Given the description of an element on the screen output the (x, y) to click on. 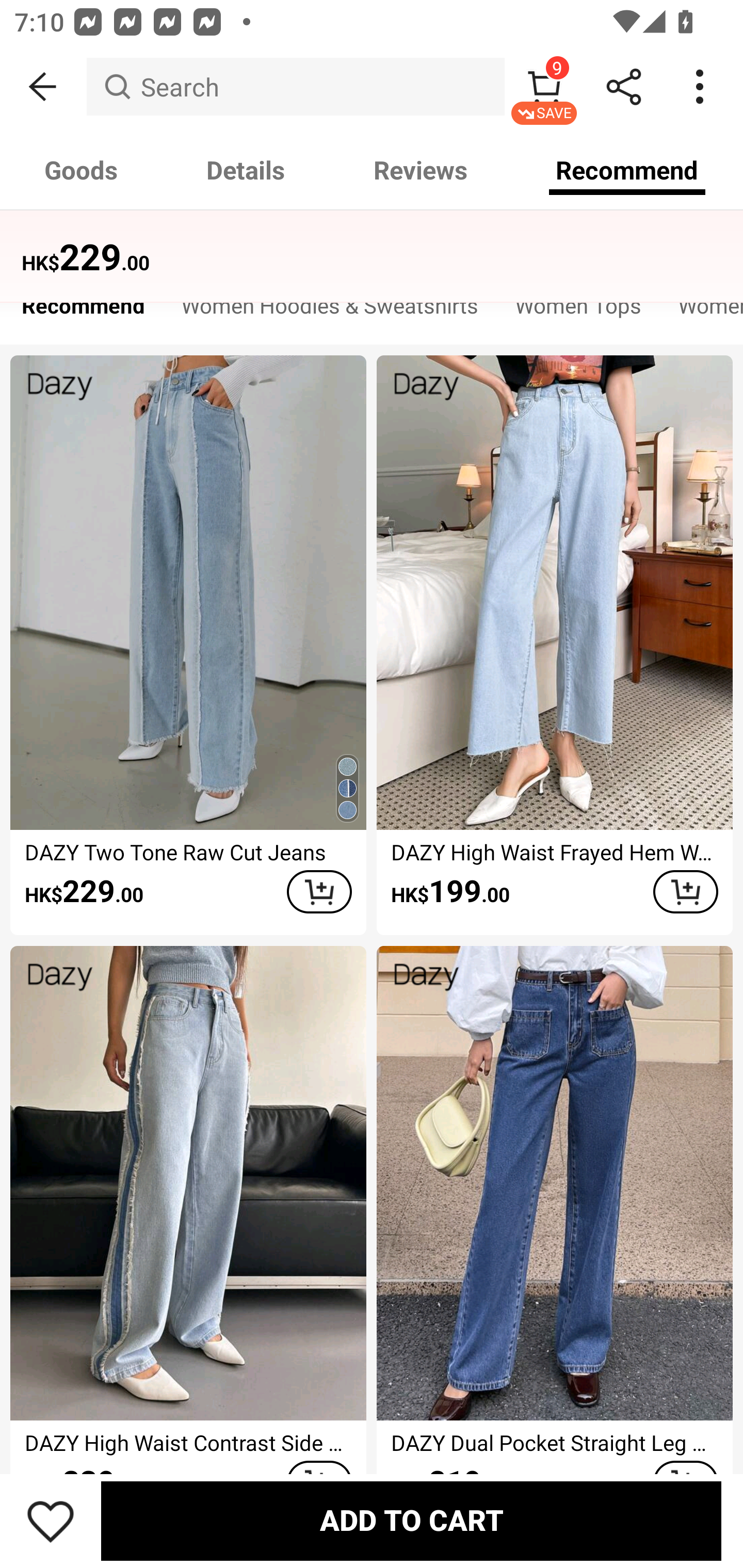
BACK (43, 86)
9 SAVE (543, 87)
Search (295, 87)
Goods (81, 170)
Details (245, 170)
Reviews (420, 170)
Recommend (627, 170)
You May Also Like (371, 244)
Recommend (82, 310)
Women Hoodies & Sweatshirts (329, 310)
Women Tops (578, 310)
Women Sweaters & Cardigans (701, 310)
ADD TO CART (319, 892)
ADD TO CART (685, 892)
ADD TO CART (411, 1520)
Save (50, 1520)
